Given the description of an element on the screen output the (x, y) to click on. 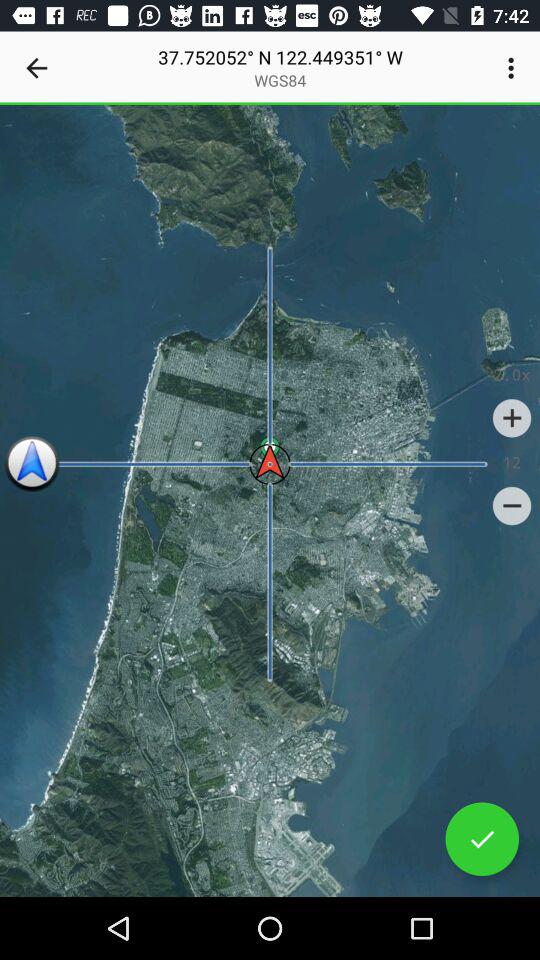
accep the direction (482, 839)
